Given the description of an element on the screen output the (x, y) to click on. 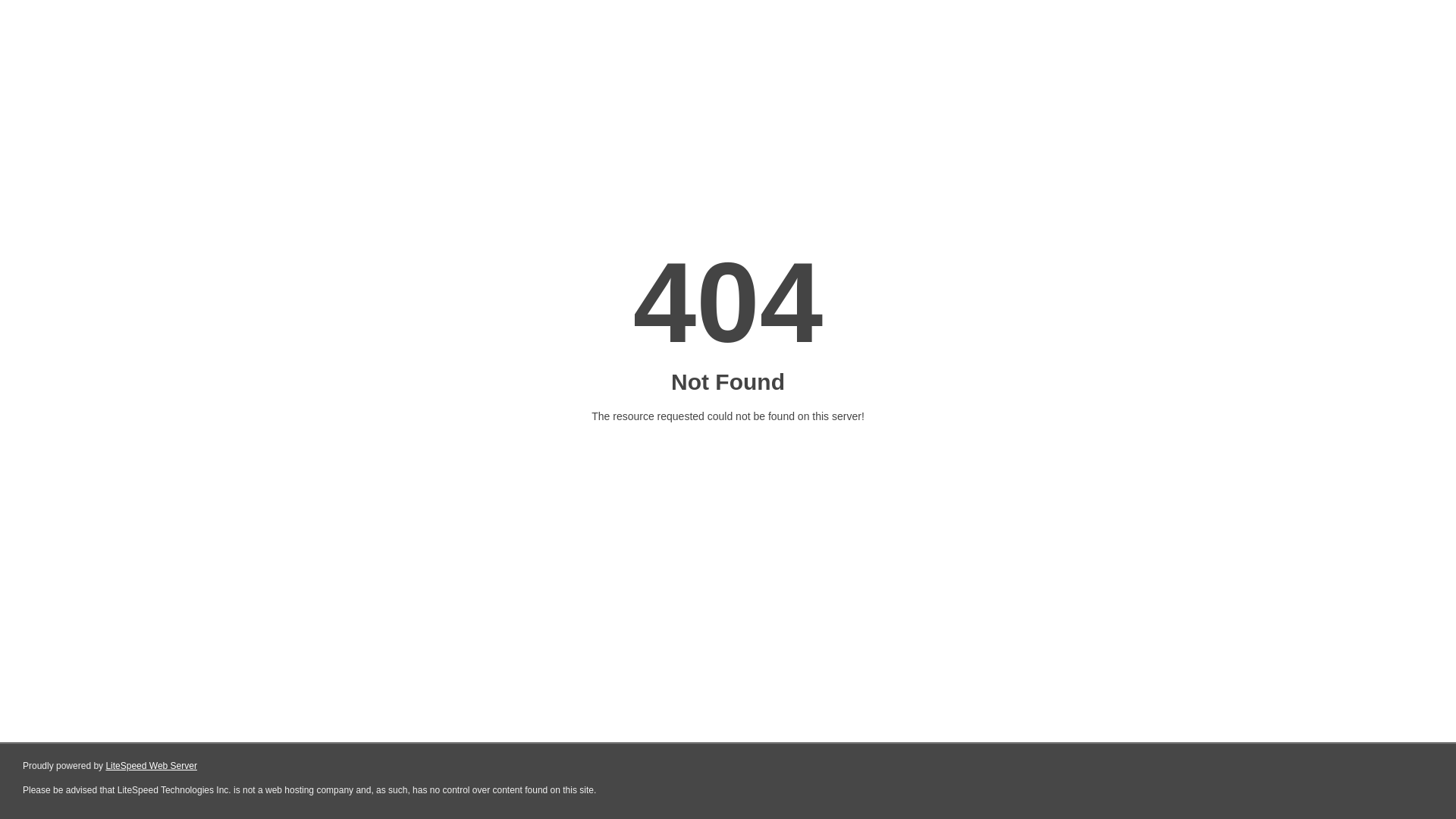
LiteSpeed Web Server Element type: text (151, 765)
